Given the description of an element on the screen output the (x, y) to click on. 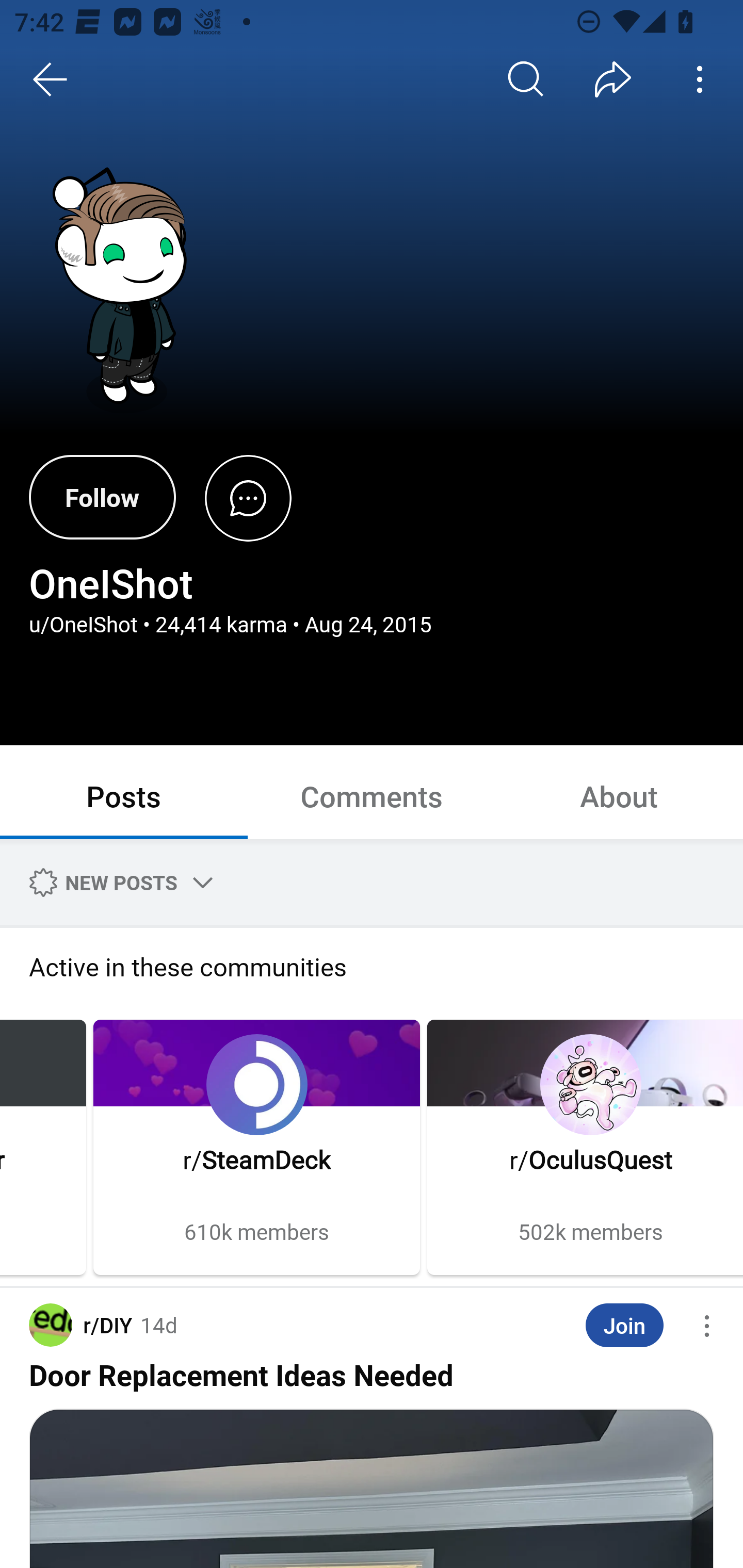
Back (50, 79)
Search profile (525, 79)
Share OneIShot profile (612, 79)
More profile actions (699, 79)
User Avatar (126, 292)
Follow (102, 496)
Send message (248, 497)
Comments (371, 795)
About (619, 795)
NEW POSTS Sort by New posts (117, 881)
r/SteamDeck 610k members 610 thousand members (256, 1146)
r/OculusQuest 502k members 502 thousand members (585, 1146)
Avatar r/DIY (80, 1324)
Join (624, 1325)
Overflow menu (706, 1325)
